Given the description of an element on the screen output the (x, y) to click on. 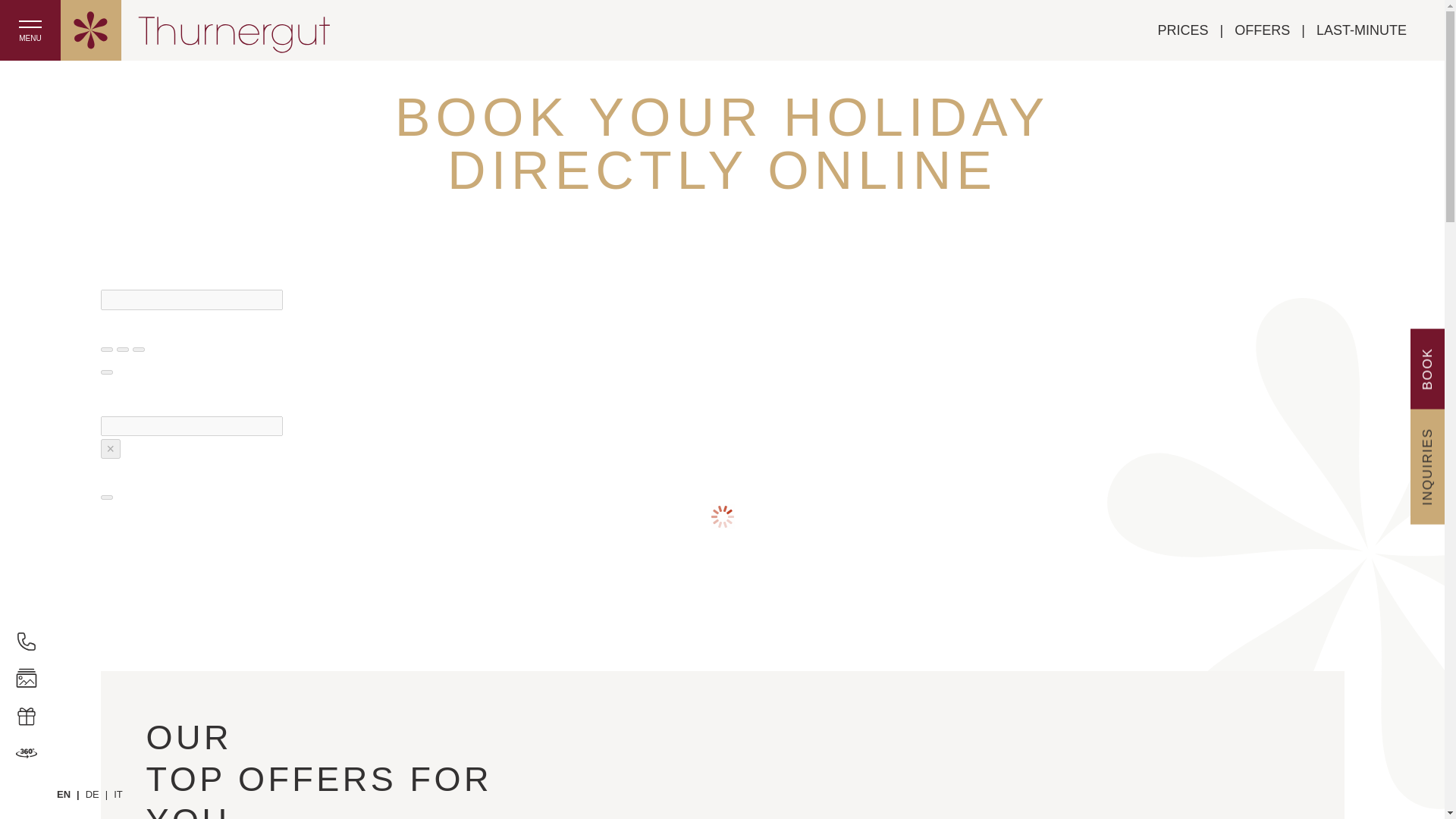
Deutsch (99, 793)
DE (99, 793)
PRICES (1195, 29)
englisch (70, 793)
EN (70, 793)
OFFERS (1275, 29)
LAST-MINUTE (1361, 29)
